Given the description of an element on the screen output the (x, y) to click on. 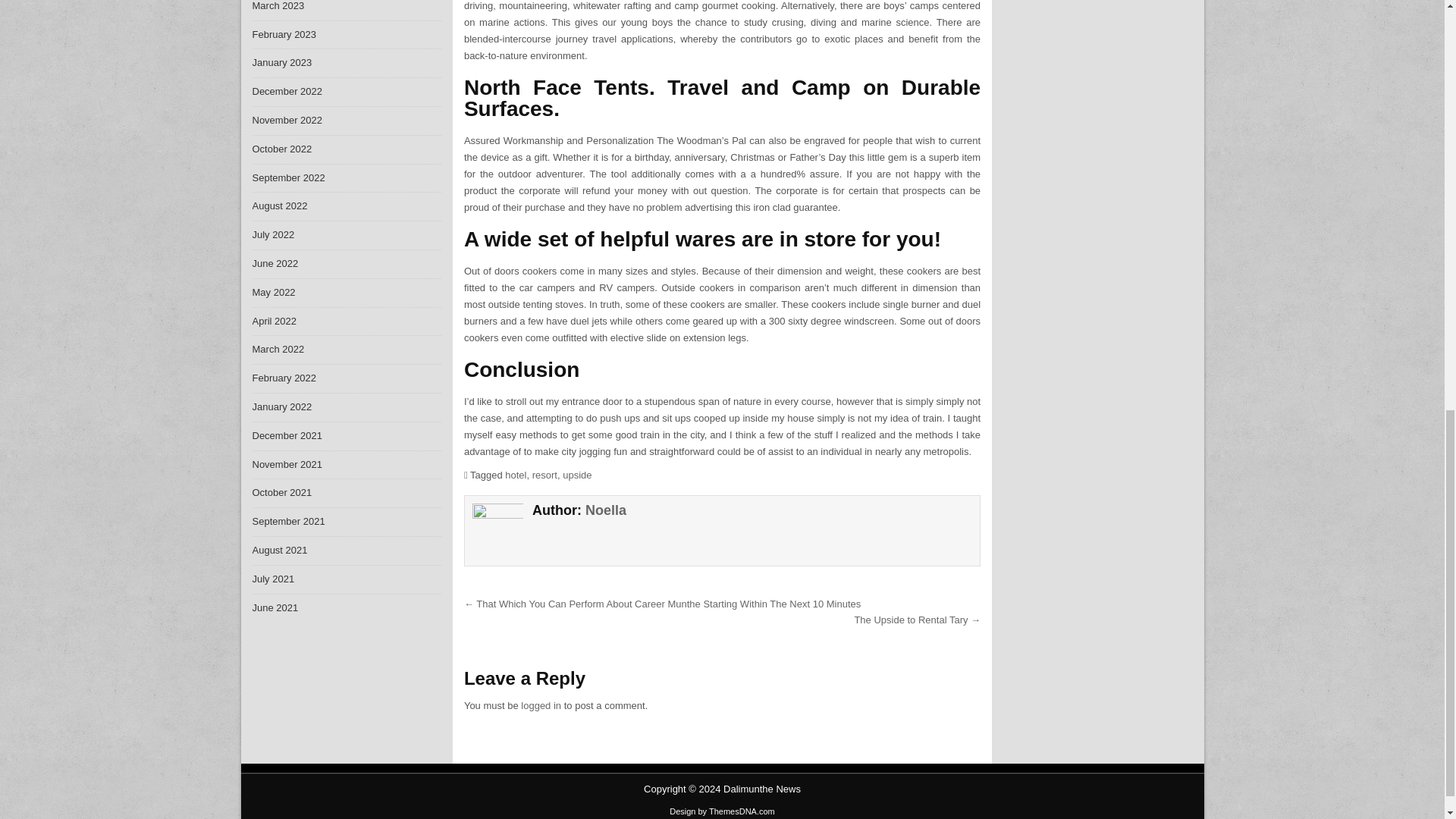
logged in (540, 705)
upside (576, 474)
Noella (605, 509)
hotel (515, 474)
resort (544, 474)
